Given the description of an element on the screen output the (x, y) to click on. 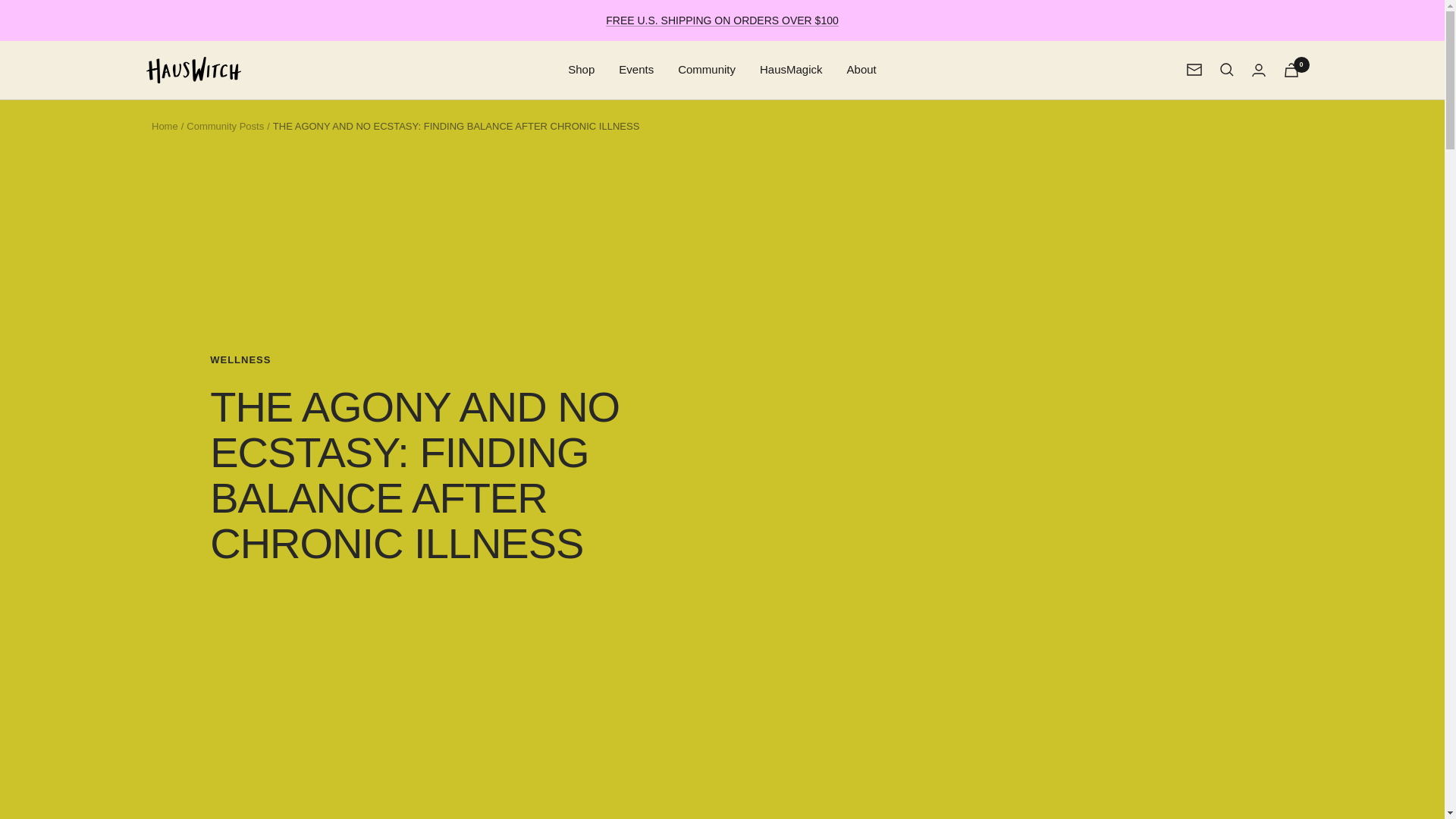
HausWitch (192, 69)
Newsletter (1193, 69)
Events (635, 69)
Shop (580, 69)
HausMagick (791, 69)
WELLNESS (438, 359)
About (861, 69)
Home (164, 125)
0 (1290, 69)
Community (706, 69)
Community Posts (224, 125)
